Given the description of an element on the screen output the (x, y) to click on. 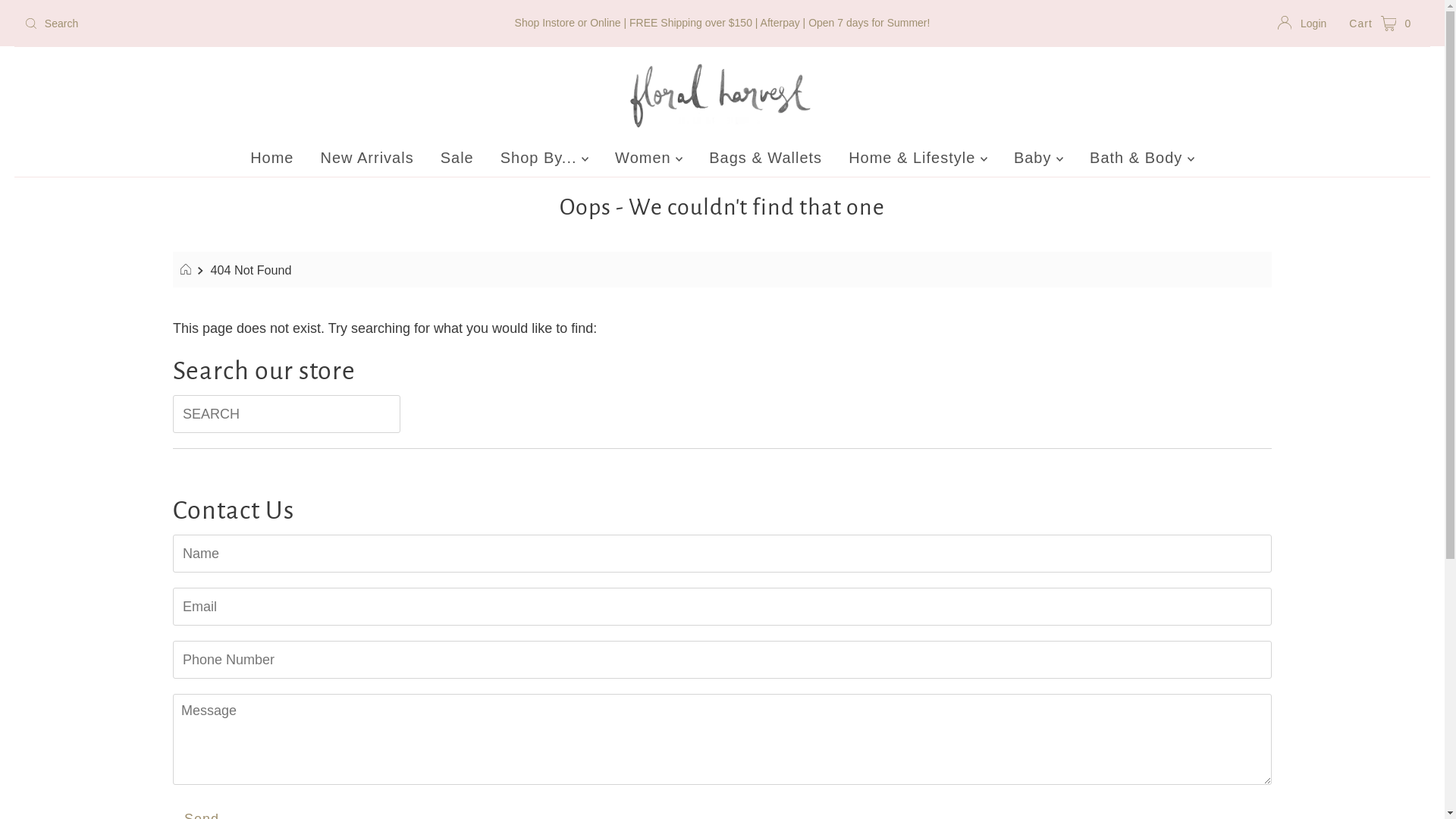
Sale Element type: text (457, 157)
Bags & Wallets Element type: text (765, 157)
Home Element type: text (271, 157)
New Arrivals Element type: text (367, 157)
